Given the description of an element on the screen output the (x, y) to click on. 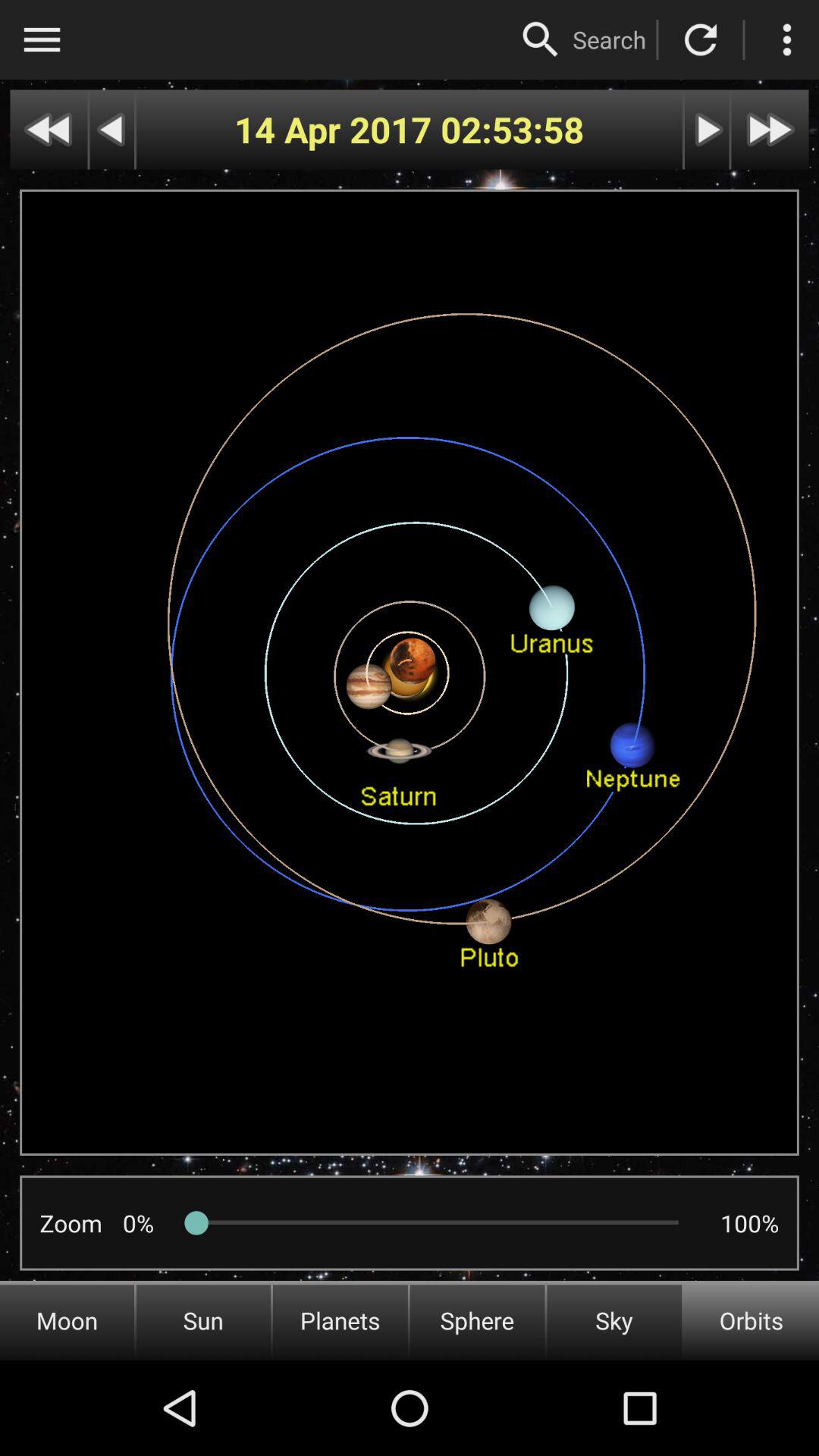
rewind (111, 129)
